Given the description of an element on the screen output the (x, y) to click on. 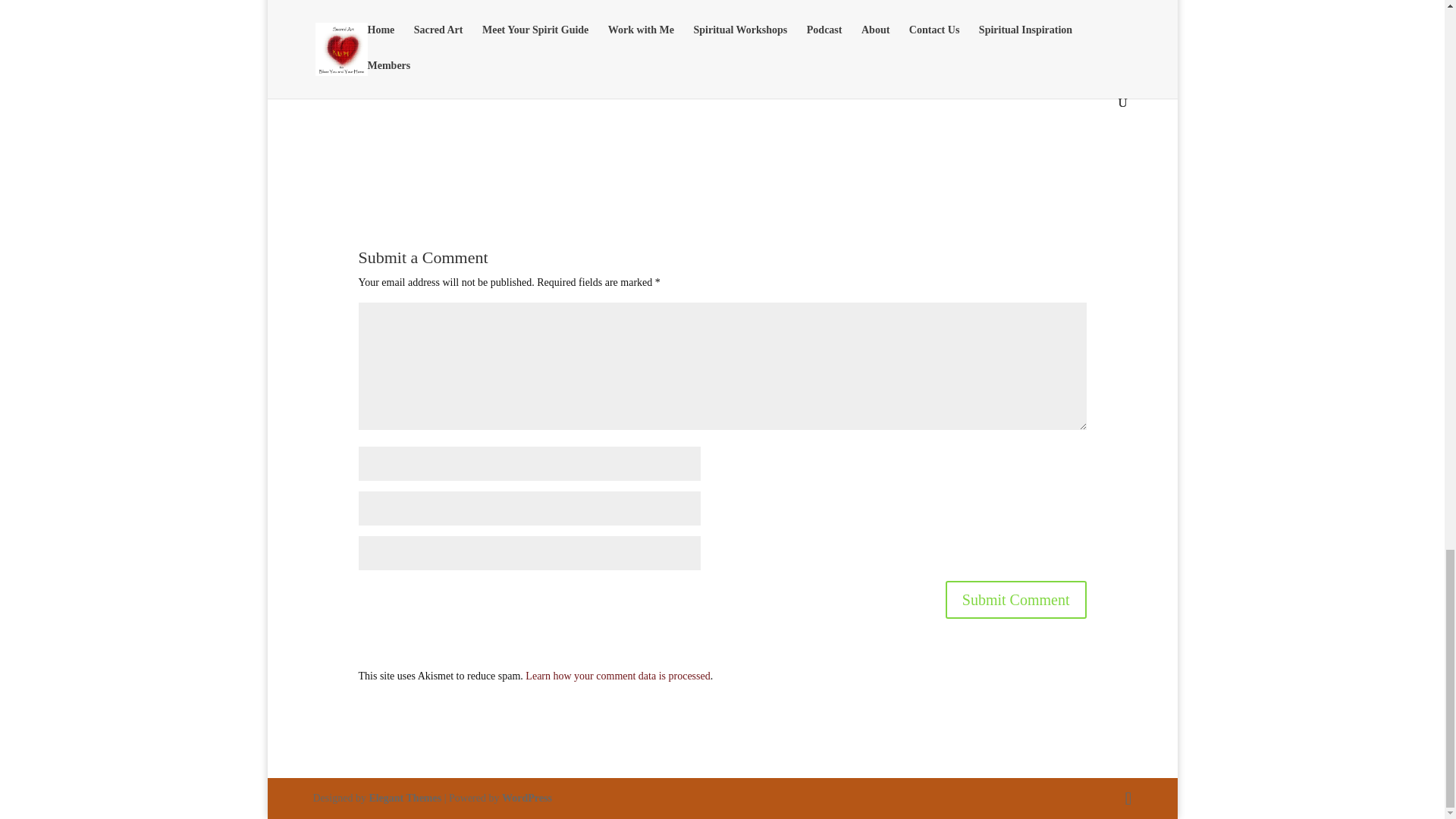
Learn how your comment data is processed (617, 675)
WordPress (526, 797)
Elegant Themes (404, 797)
Submit Comment (1015, 599)
Premium WordPress Themes (404, 797)
